Given the description of an element on the screen output the (x, y) to click on. 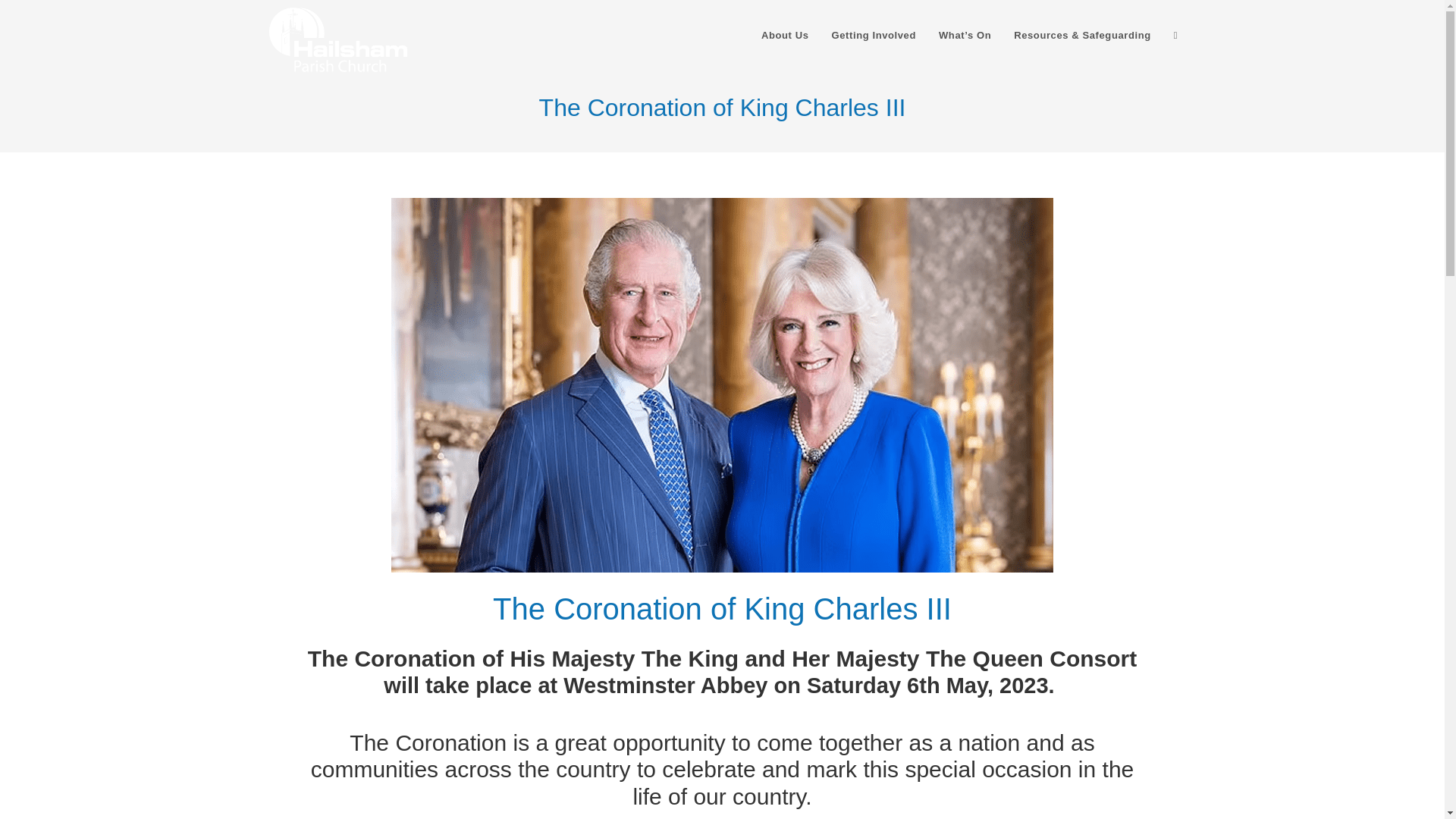
Getting Involved (874, 35)
About Us (785, 35)
